Given the description of an element on the screen output the (x, y) to click on. 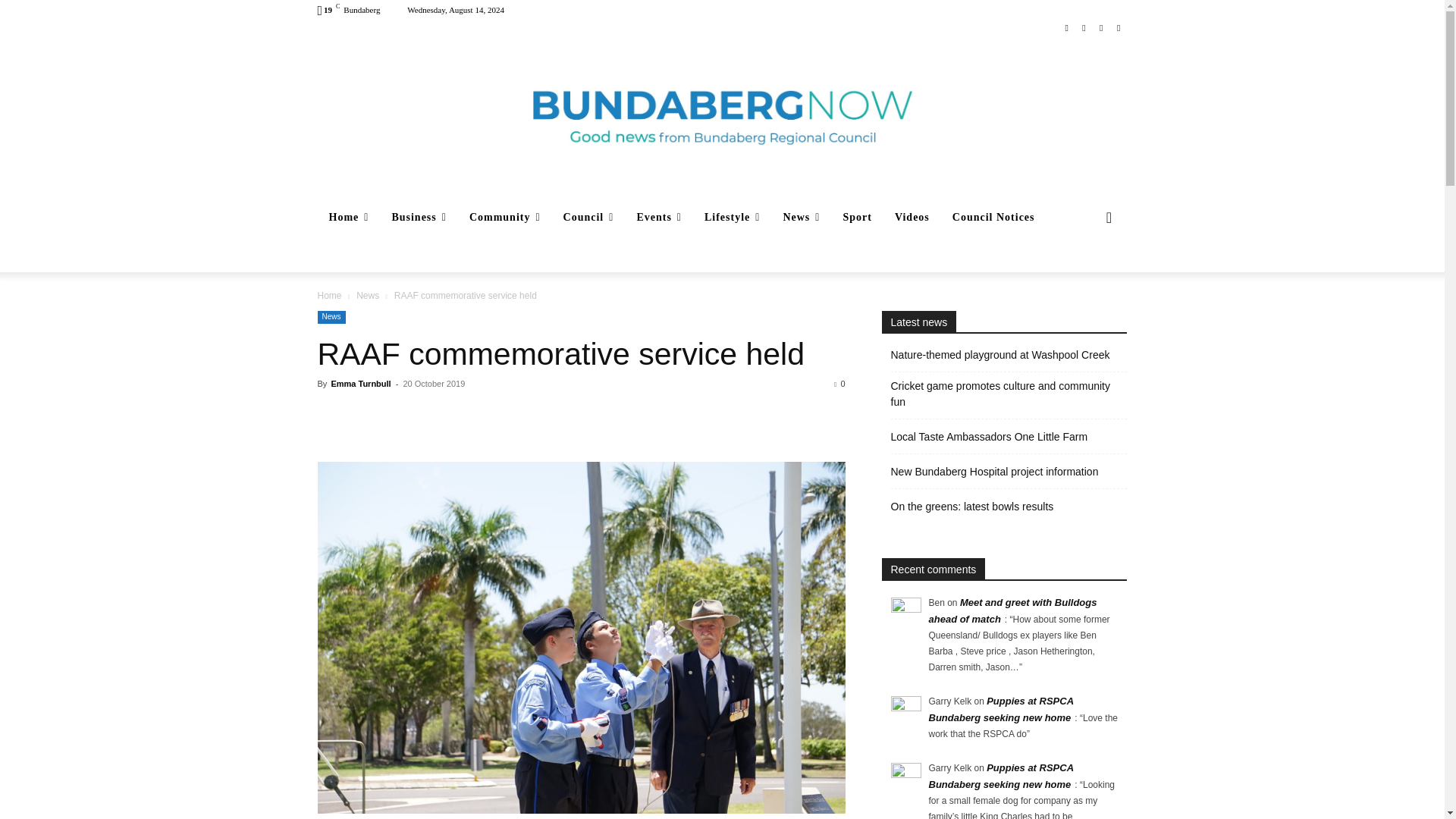
Bundaberg Now (721, 117)
Instagram (1084, 27)
Youtube (1117, 27)
Twitter (1101, 27)
Bundaberg Now (721, 117)
Facebook (1066, 27)
Home (348, 217)
